Given the description of an element on the screen output the (x, y) to click on. 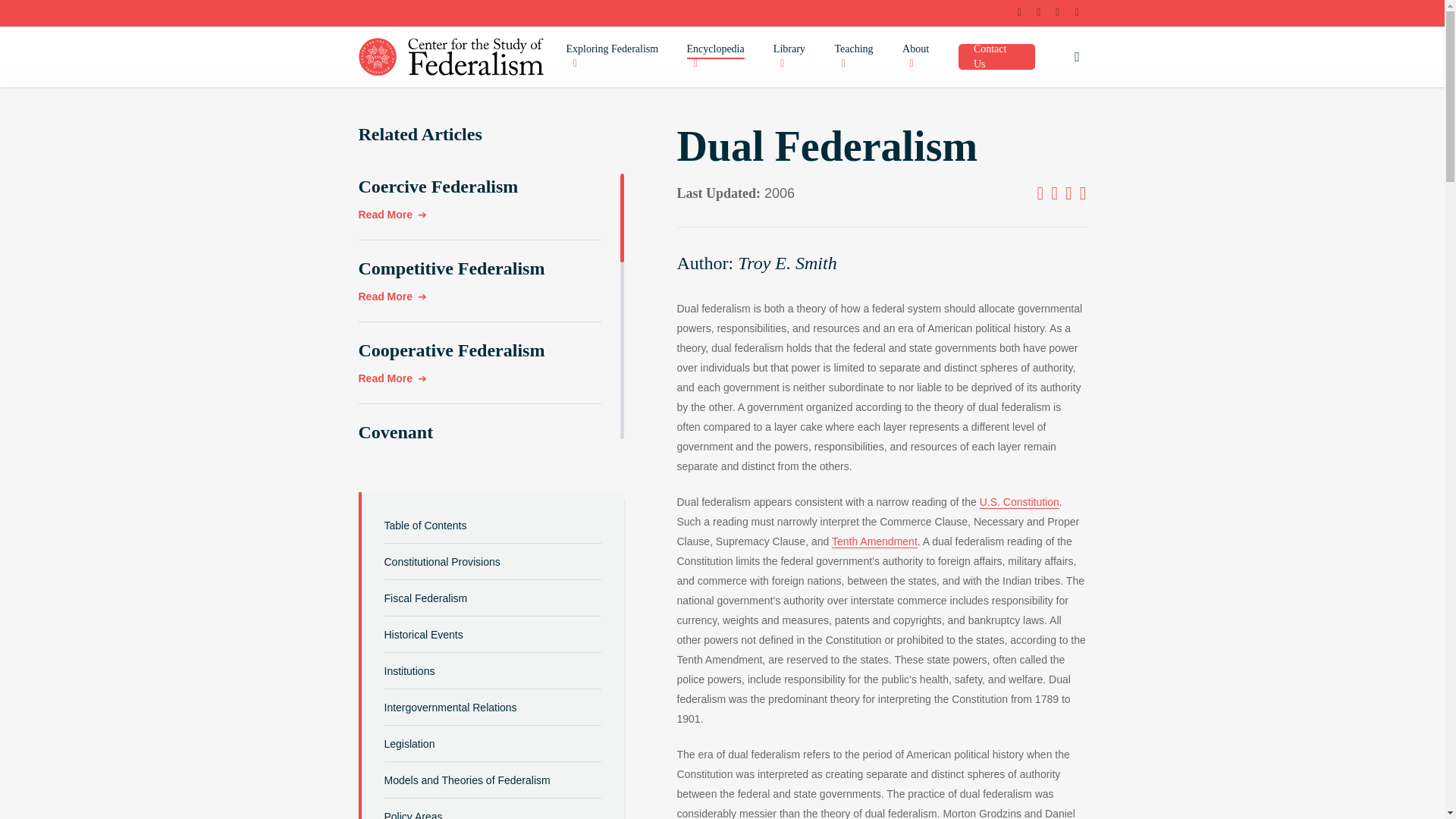
Library (796, 56)
Encyclopedia (722, 56)
Exploring Federalism (618, 56)
